Given the description of an element on the screen output the (x, y) to click on. 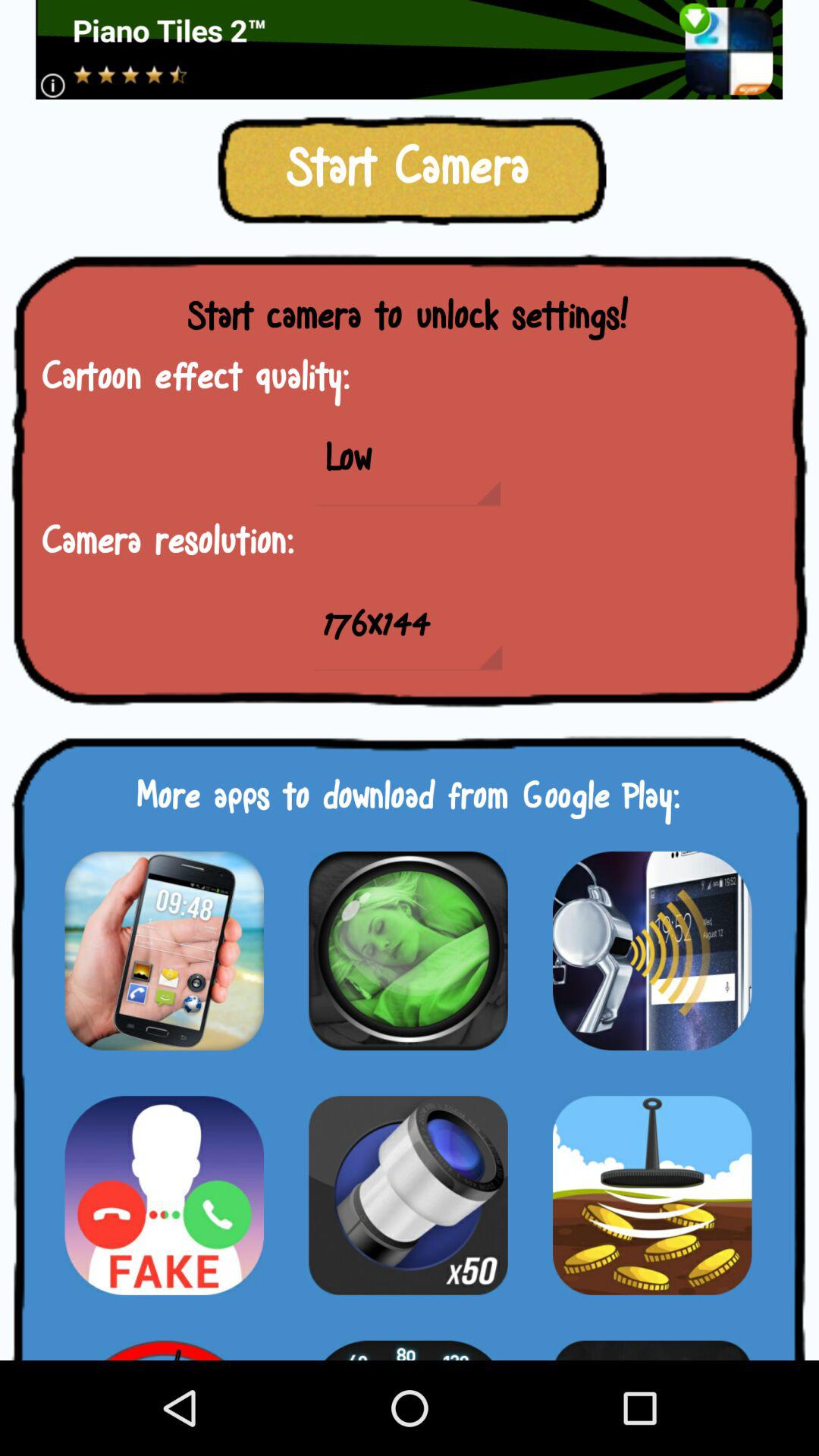
start camera (408, 1195)
